Given the description of an element on the screen output the (x, y) to click on. 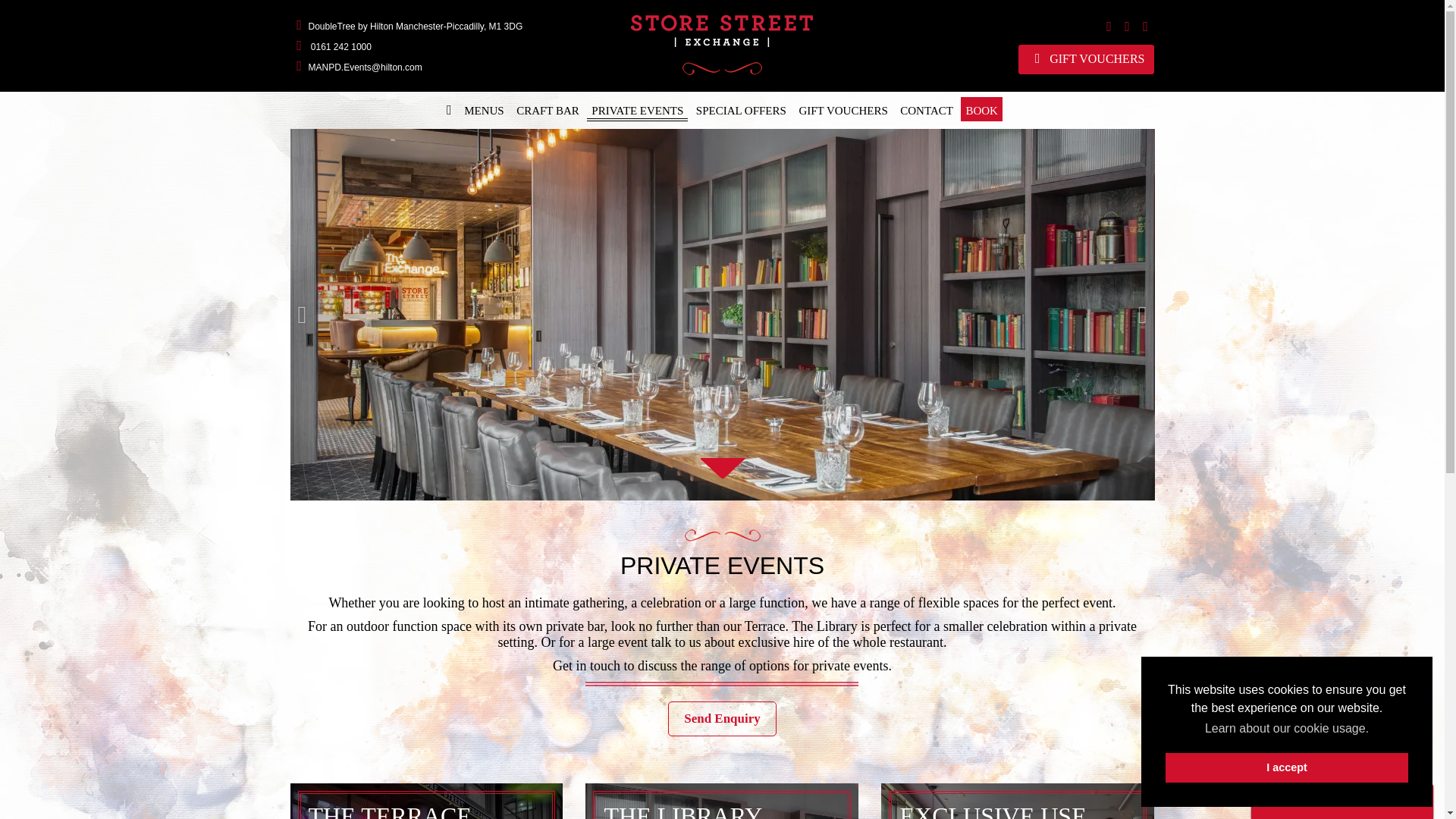
CONTACT (926, 109)
BOOK (981, 109)
PRIVATE EVENTS (636, 109)
MENUS (484, 109)
DoubleTree by Hilton Manchester-Piccadilly, M1 3DG (405, 26)
CRAFT BAR (547, 109)
Learn about our cookie usage. (1286, 728)
Store Street Exchange (722, 45)
GIFT VOUCHERS (842, 109)
0161 242 1000 (330, 46)
